Given the description of an element on the screen output the (x, y) to click on. 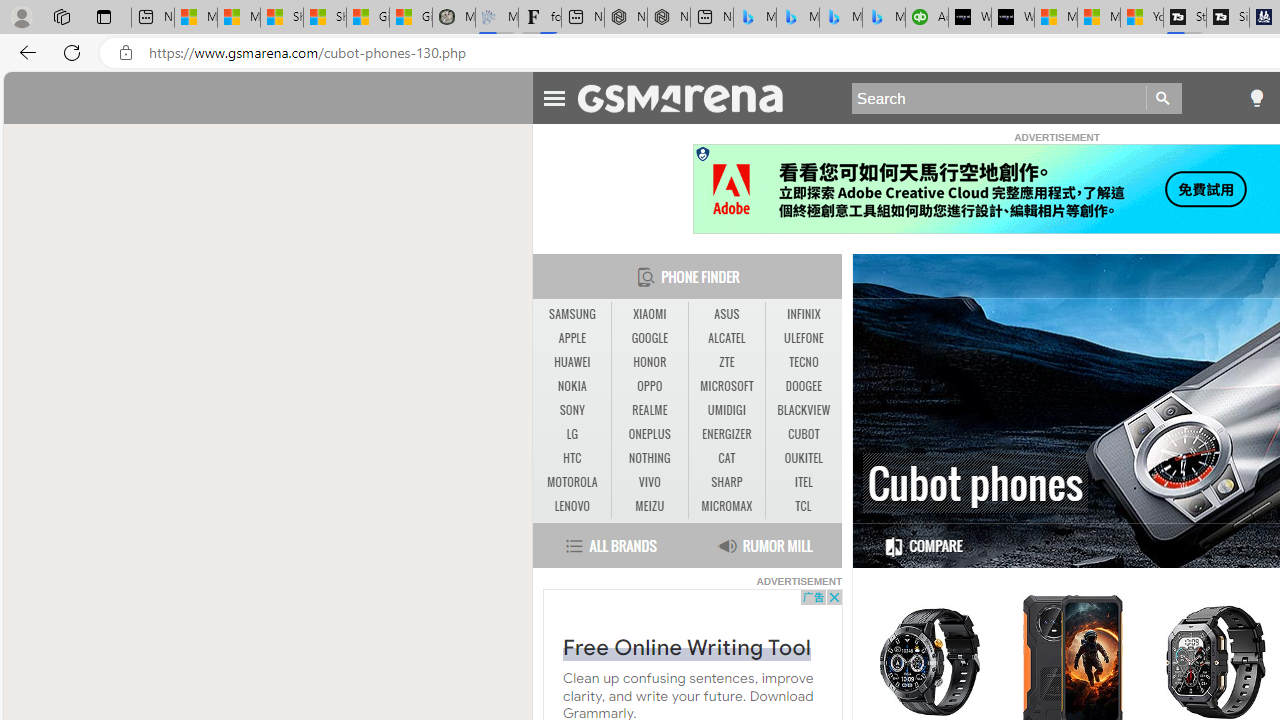
MEIZU (649, 506)
LG (571, 434)
DOOGEE (803, 386)
MICROMAX (726, 506)
DOOGEE (803, 385)
ENERGIZER (726, 434)
Manatee Mortality Statistics | FWC (453, 17)
APPLE (571, 338)
HTC (571, 457)
GOOGLE (649, 339)
LENOVO (571, 506)
HONOR (649, 362)
ITEL (803, 483)
